Given the description of an element on the screen output the (x, y) to click on. 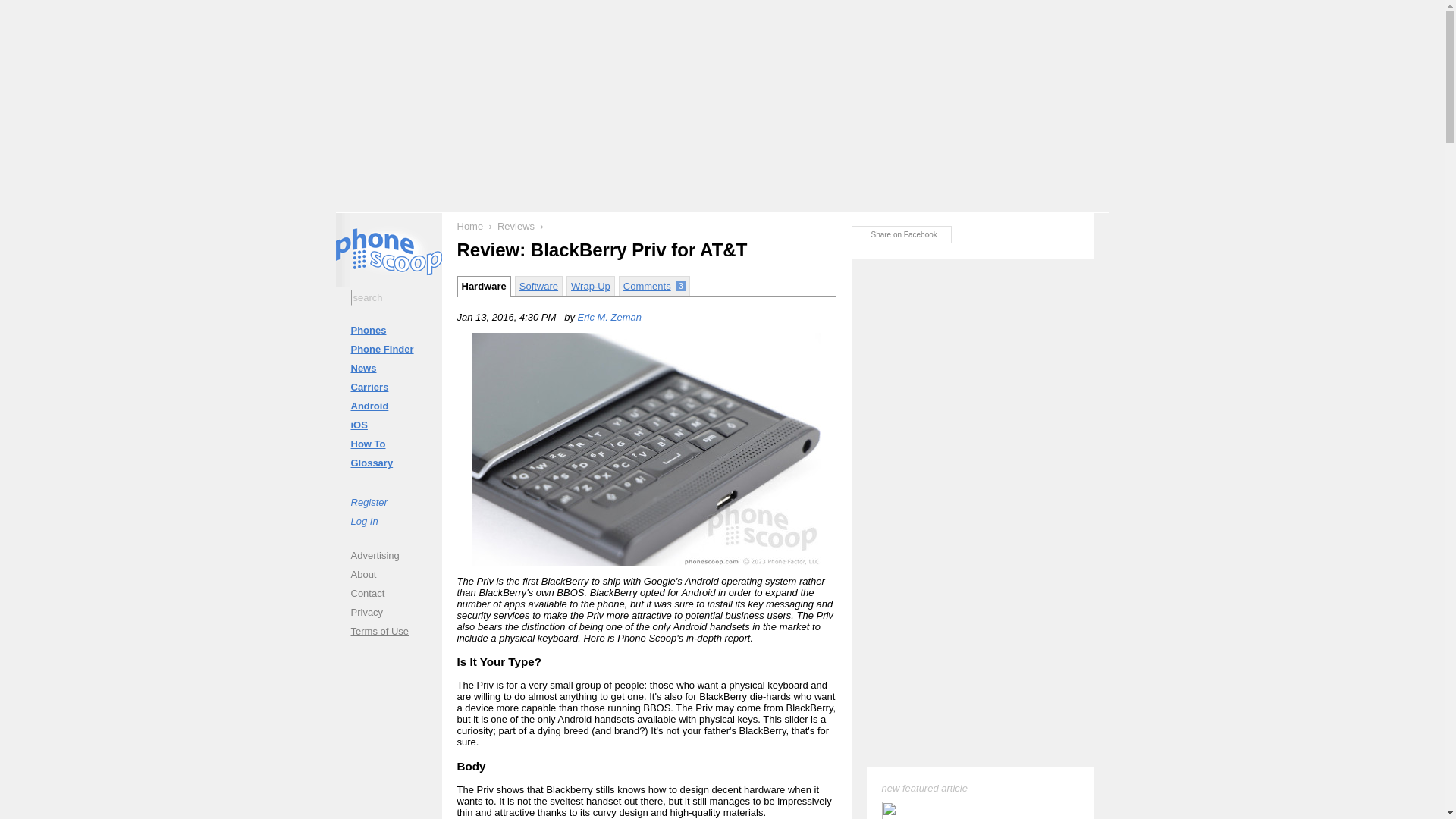
Reviews (515, 225)
Comments  3 (654, 285)
Advertising (387, 555)
Carriers (387, 386)
News (387, 367)
How To (387, 443)
Eric M. Zeman (610, 317)
Privacy (387, 610)
Phone Finder (387, 348)
Phones (387, 330)
About (387, 573)
search (388, 297)
Glossary (387, 462)
Home (470, 225)
Android (387, 405)
